Given the description of an element on the screen output the (x, y) to click on. 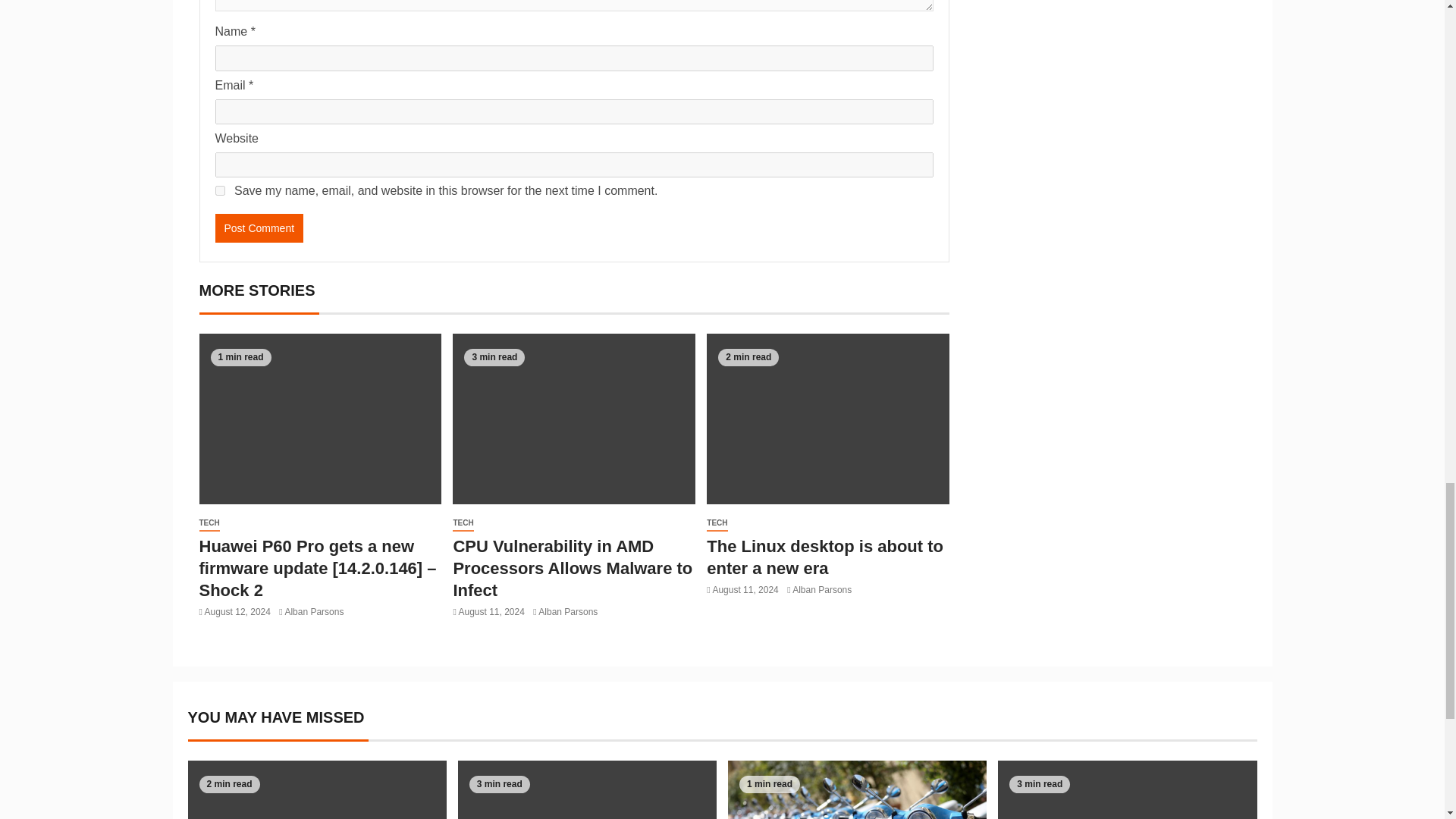
yes (220, 190)
Post Comment (259, 227)
Post Comment (259, 227)
